Given the description of an element on the screen output the (x, y) to click on. 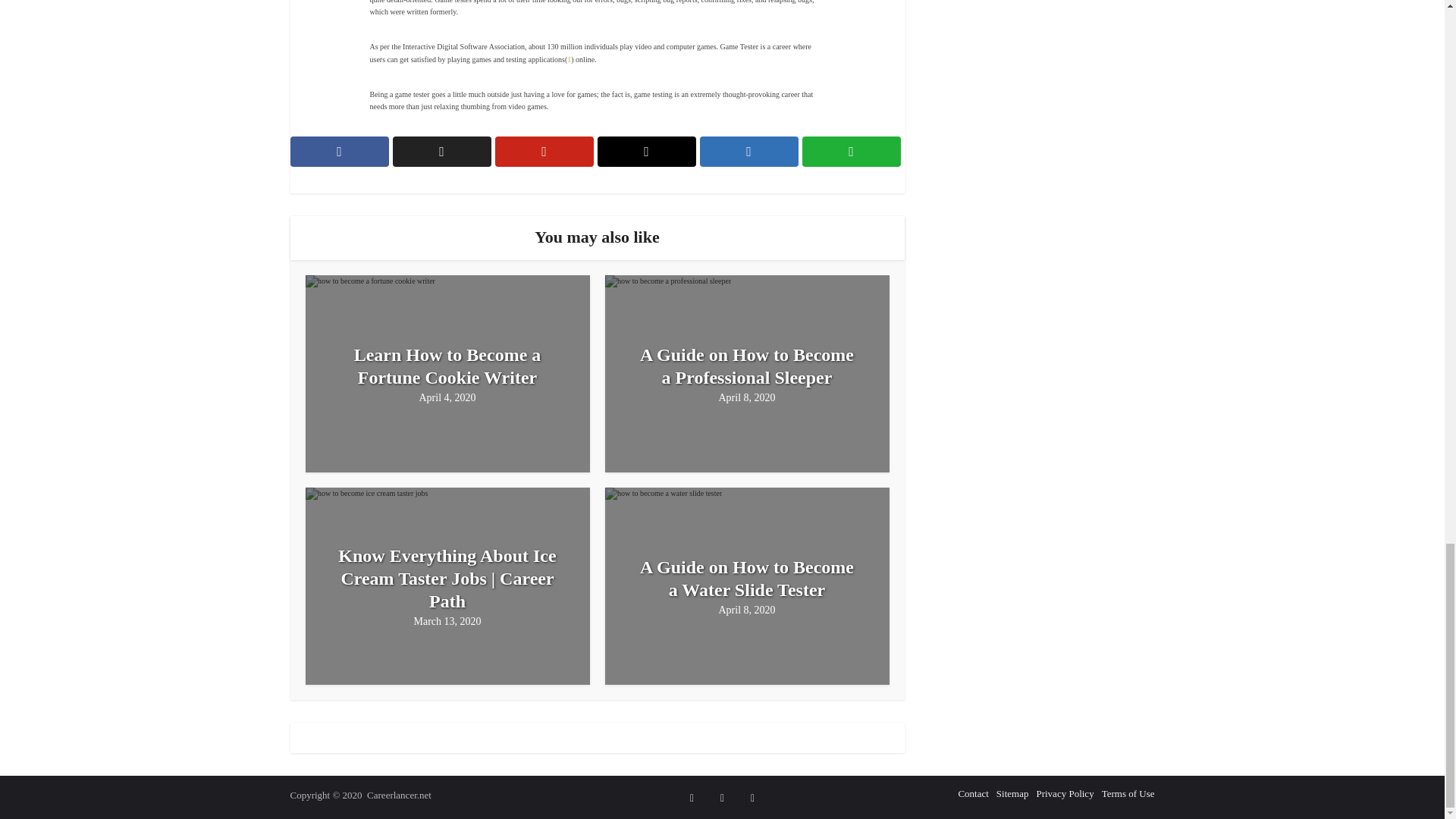
A Guide on How to Become a Water Slide Tester (747, 578)
Learn How to Become a Fortune Cookie Writer (446, 366)
A Guide on How to Become a Professional Sleeper (747, 366)
